Given the description of an element on the screen output the (x, y) to click on. 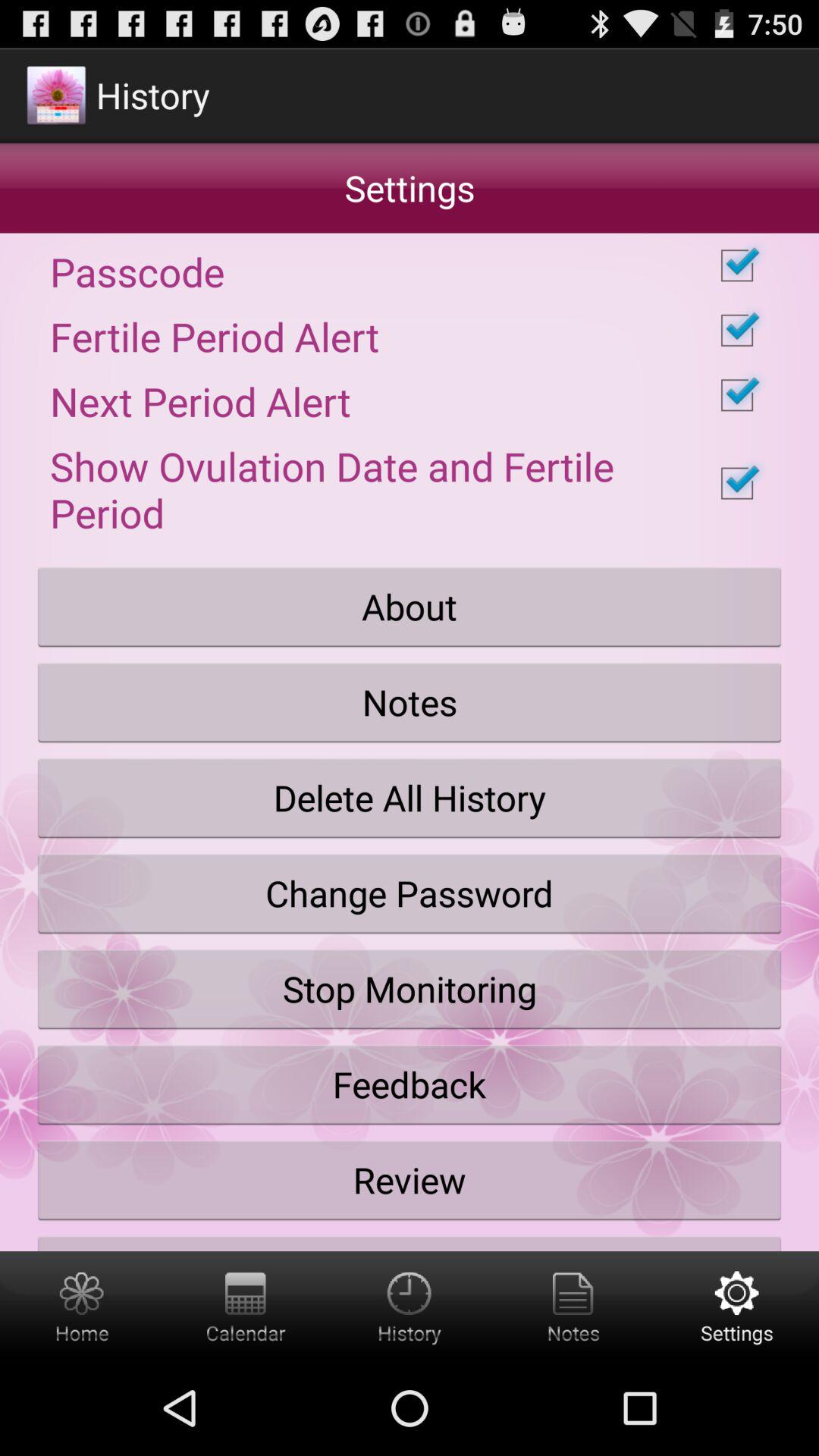
go to notes page (573, 1305)
